Given the description of an element on the screen output the (x, y) to click on. 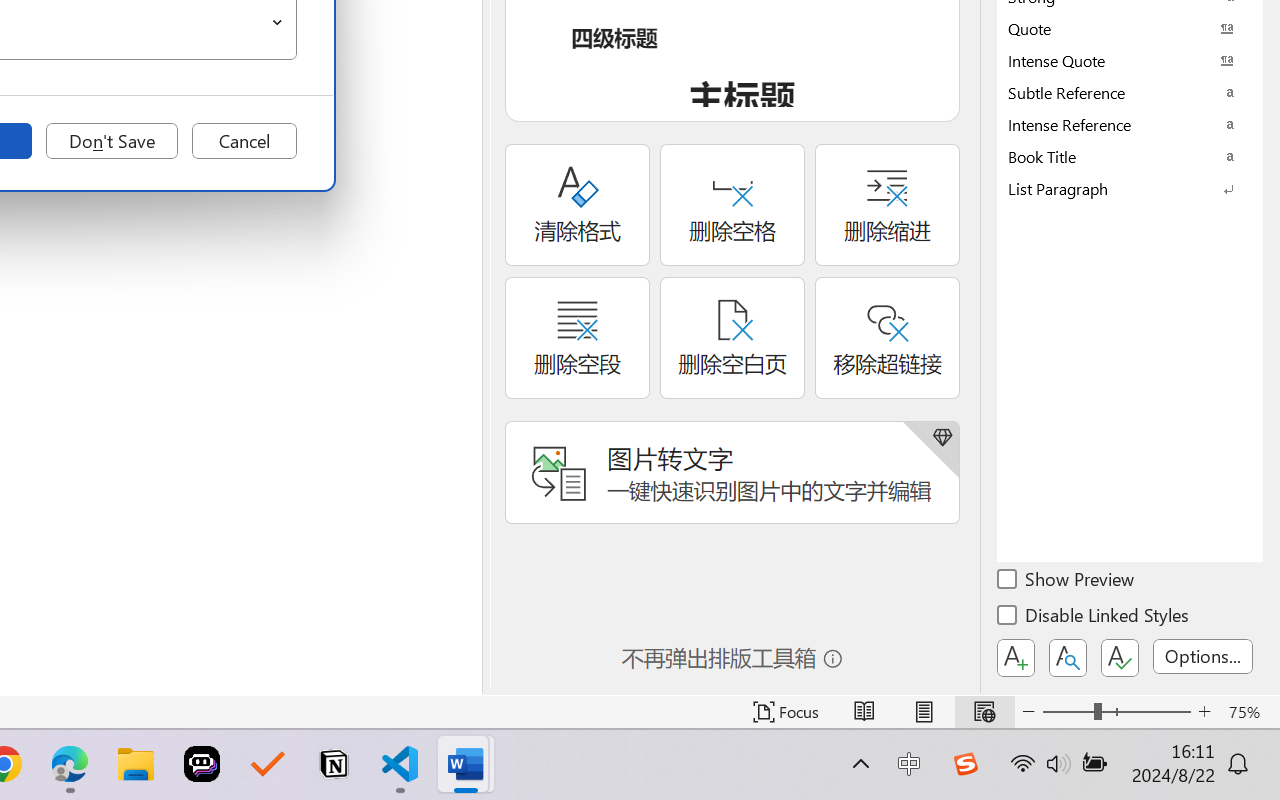
Notion (333, 764)
Quote (1130, 28)
Web Layout (984, 712)
Class: NetUIButton (1119, 657)
